Given the description of an element on the screen output the (x, y) to click on. 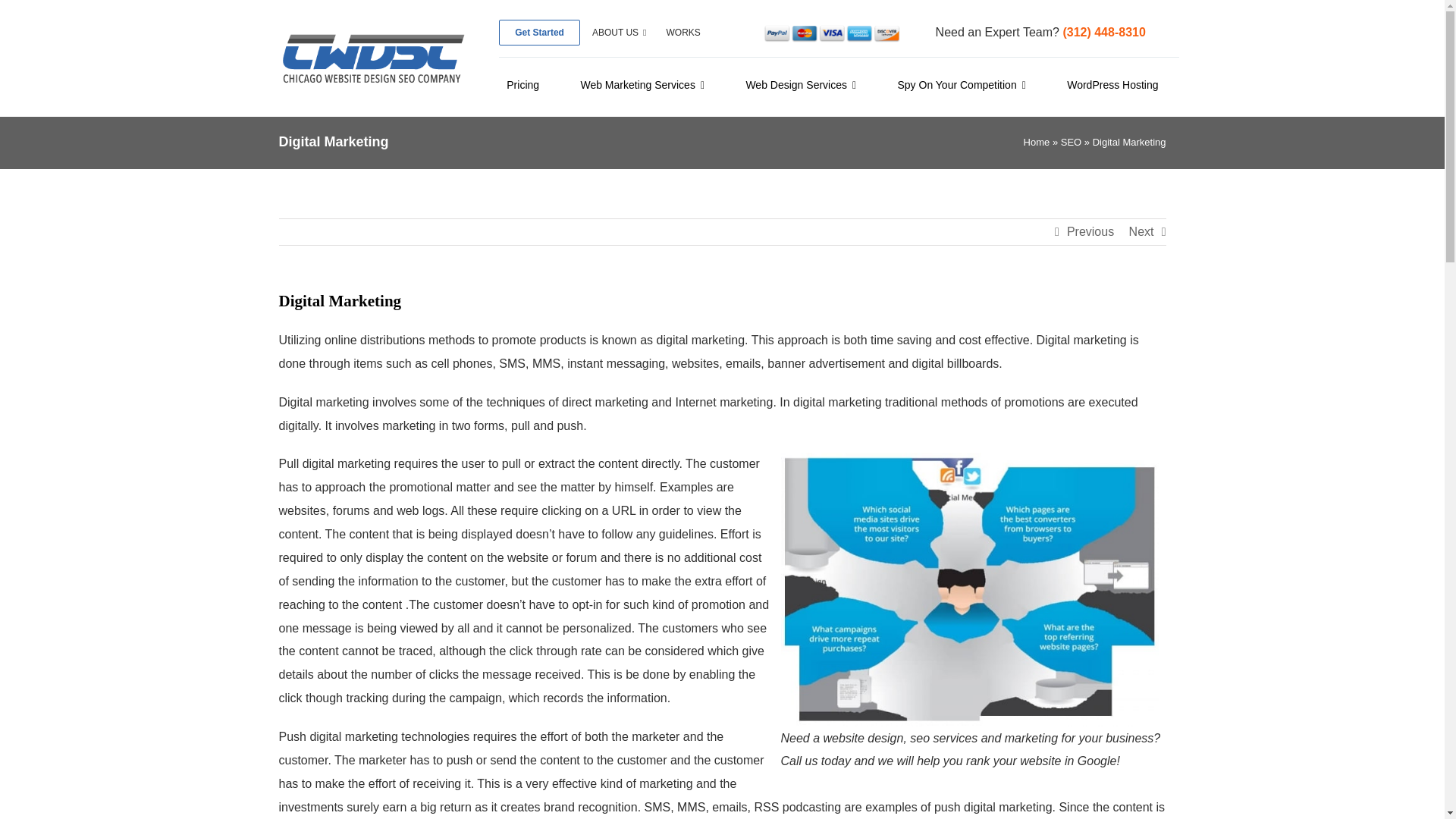
ABOUT US (619, 32)
Get Started (539, 32)
WORKS (682, 32)
Pricing (523, 85)
25654-2-major-credit-card-logo-transparent (831, 33)
Digital Marketing 1 Chicago Website Design SEO Company (372, 58)
Digital Marketing 3 Chicago Website Design SEO Company (969, 589)
Web Marketing Services (641, 85)
